Given the description of an element on the screen output the (x, y) to click on. 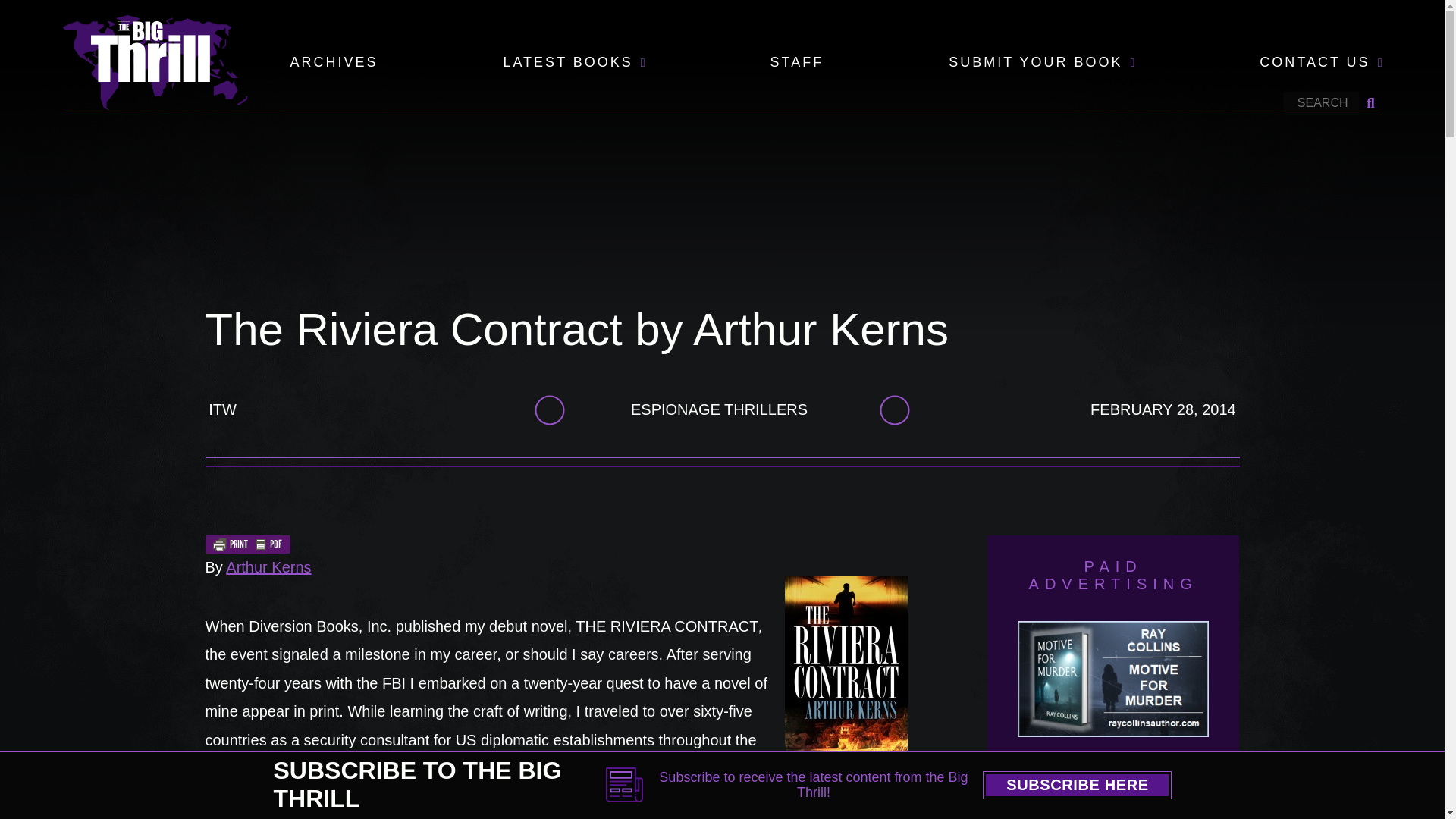
LATEST BOOKS (566, 62)
SUBMIT YOUR BOOK (1035, 62)
FACEOFF! In Stores Now! (1166, 800)
Motive for Murder by Ray Collins (1113, 690)
CONTACT US (1314, 62)
ARCHIVES (333, 62)
MATCH UP! In Stores Now! (1059, 800)
STAFF (797, 62)
